Given the description of an element on the screen output the (x, y) to click on. 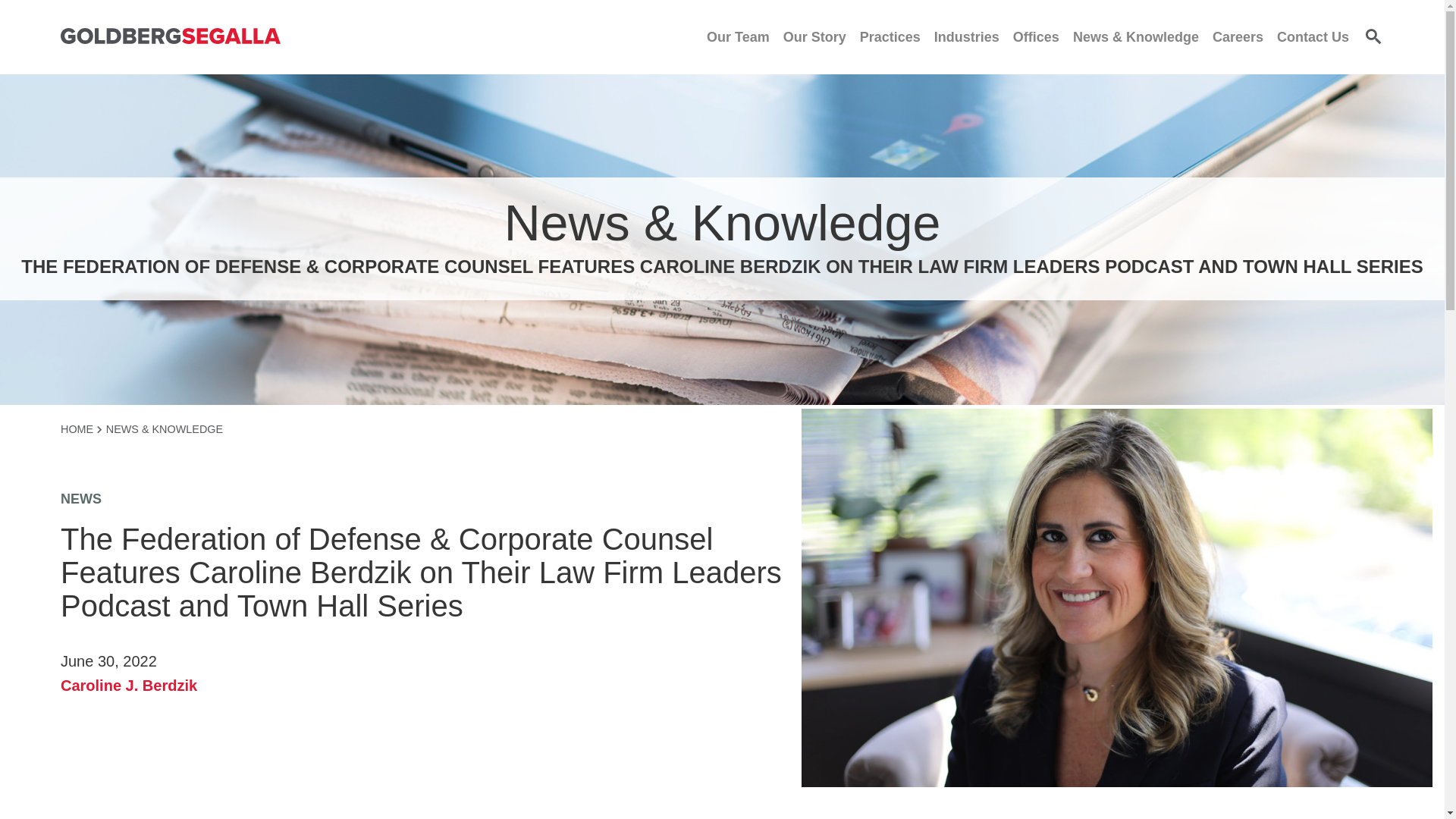
Our Story (814, 37)
HOME (81, 428)
Caroline J. Berdzik (128, 685)
Industries (966, 37)
Careers (1237, 37)
Contact Us (1312, 37)
Practices (890, 37)
Our Team (738, 37)
Offices (1036, 37)
